Given the description of an element on the screen output the (x, y) to click on. 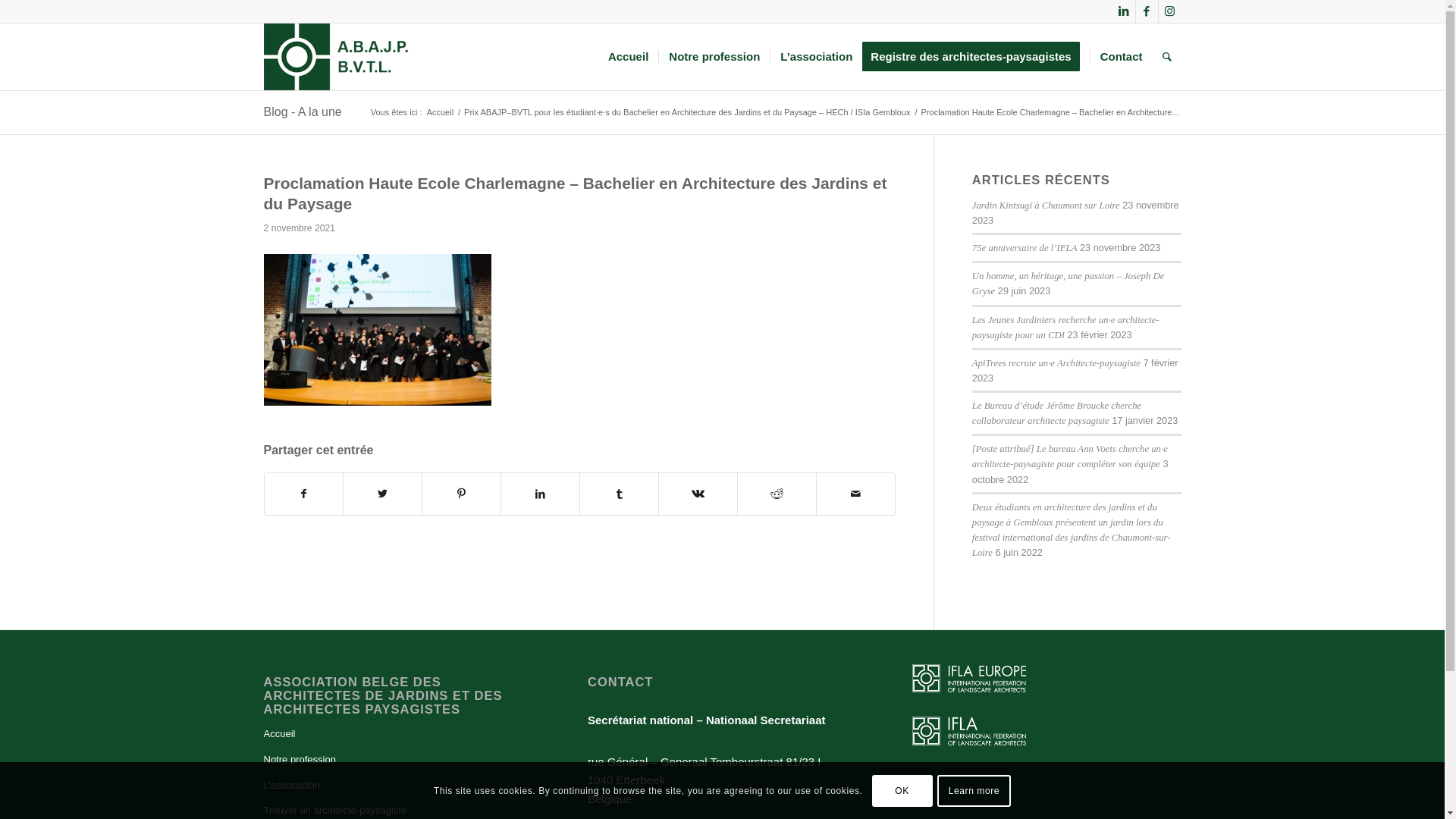
Accueil Element type: text (439, 112)
Accueil Element type: text (628, 56)
Blog - A la une Element type: text (302, 111)
Facebook Element type: hover (1146, 11)
Registre des architectes-paysagistes Element type: text (975, 56)
logo_abajp-bvtl Element type: hover (335, 56)
OK Element type: text (902, 790)
Notre profession Element type: text (713, 56)
Learn more Element type: text (974, 790)
LinkedIn Element type: hover (1124, 11)
Notre profession Element type: text (398, 760)
Contact Element type: text (1120, 56)
Instagram Element type: hover (1169, 11)
Accueil Element type: text (398, 734)
